Given the description of an element on the screen output the (x, y) to click on. 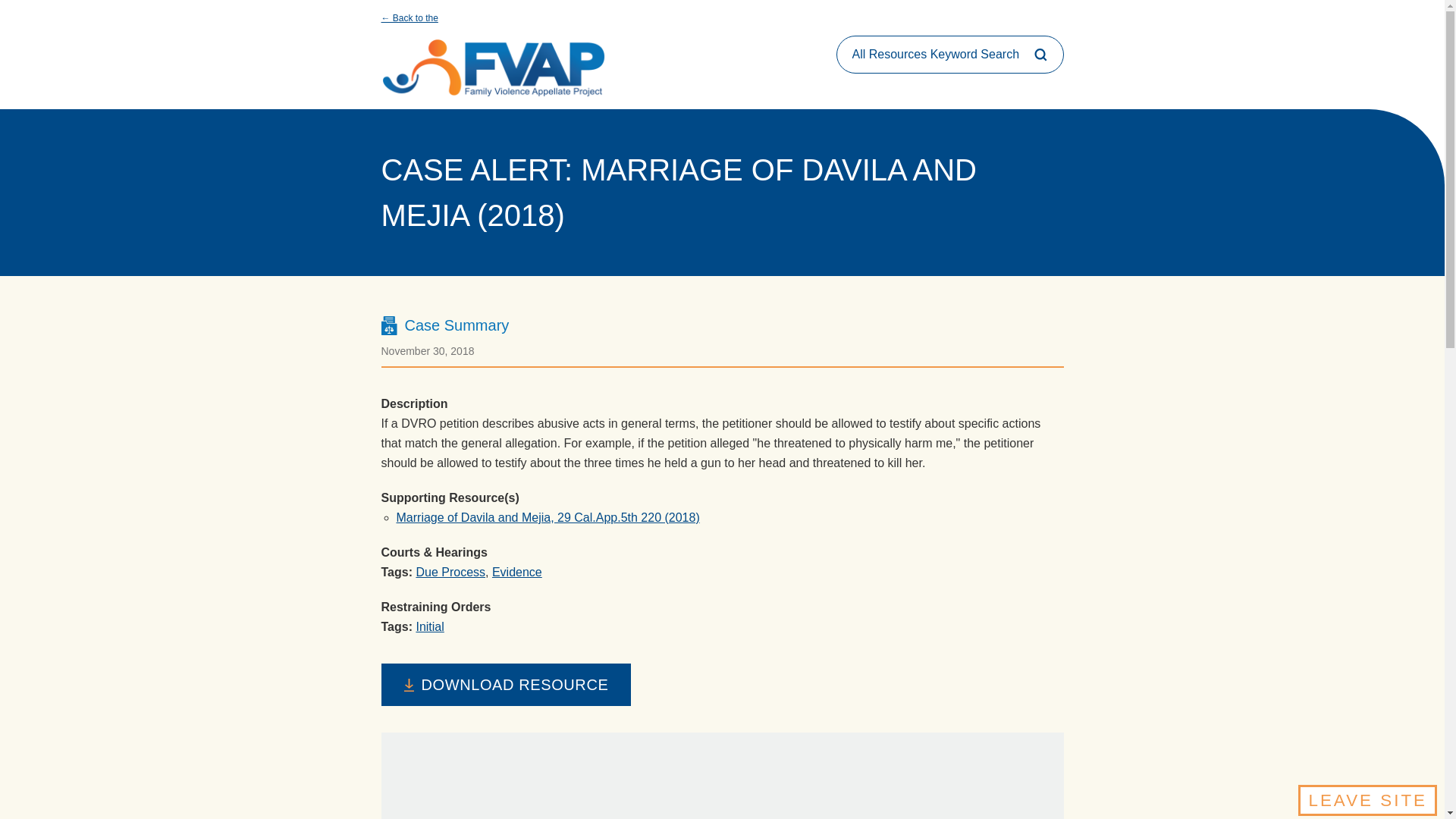
Due Process (449, 571)
Evidence (516, 571)
Initial (429, 626)
LEAVE SITE (1367, 799)
DOWNLOAD RESOURCE (505, 684)
Embedded Document (721, 775)
